Given the description of an element on the screen output the (x, y) to click on. 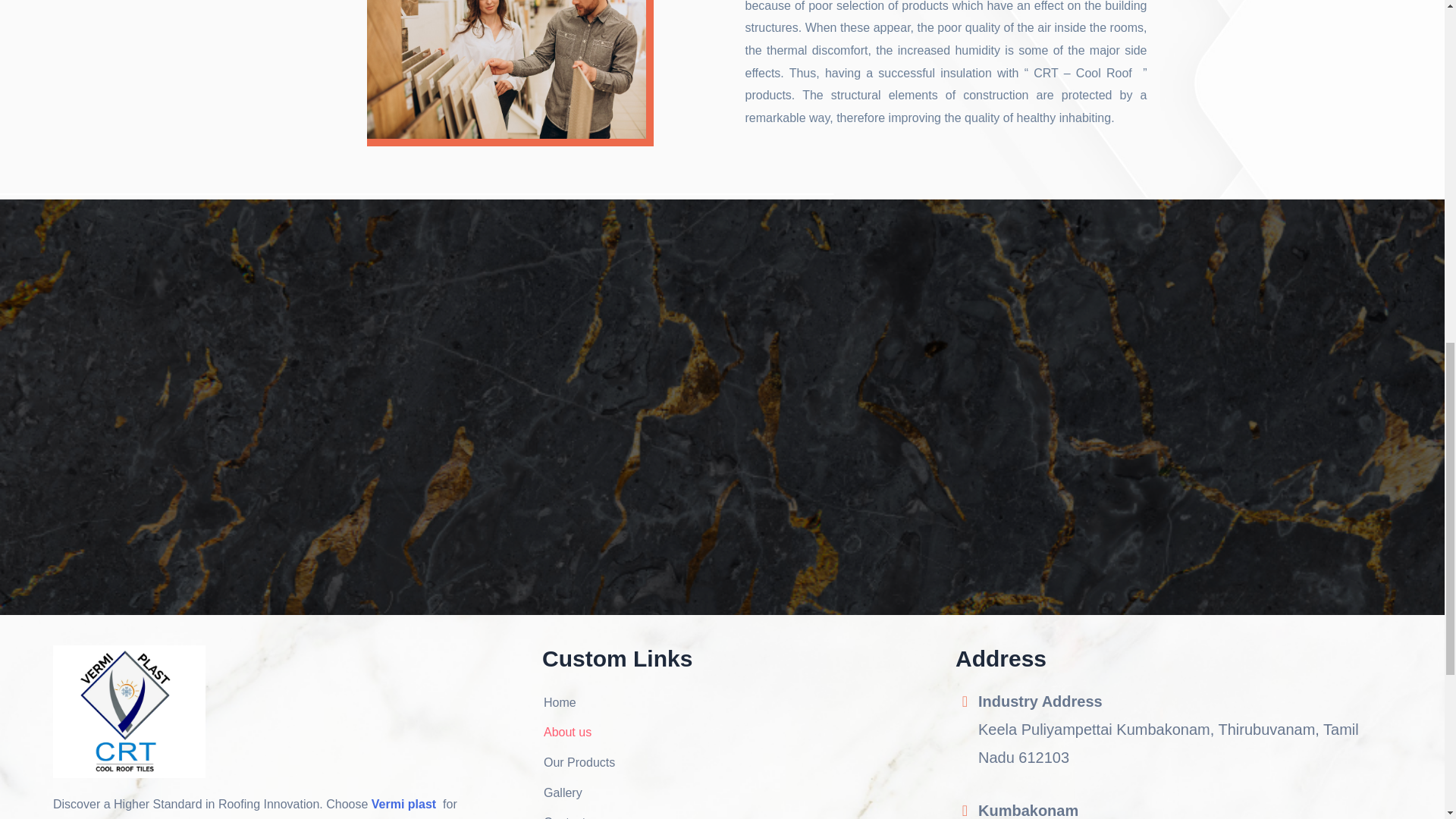
Contact us (577, 815)
Home (577, 702)
Our Products (577, 762)
Gallery (577, 793)
Our Products (577, 762)
Home (577, 702)
About us (577, 732)
Contact us (577, 815)
Vermi plast  (405, 803)
Gallery (577, 793)
About us (577, 732)
